Given the description of an element on the screen output the (x, y) to click on. 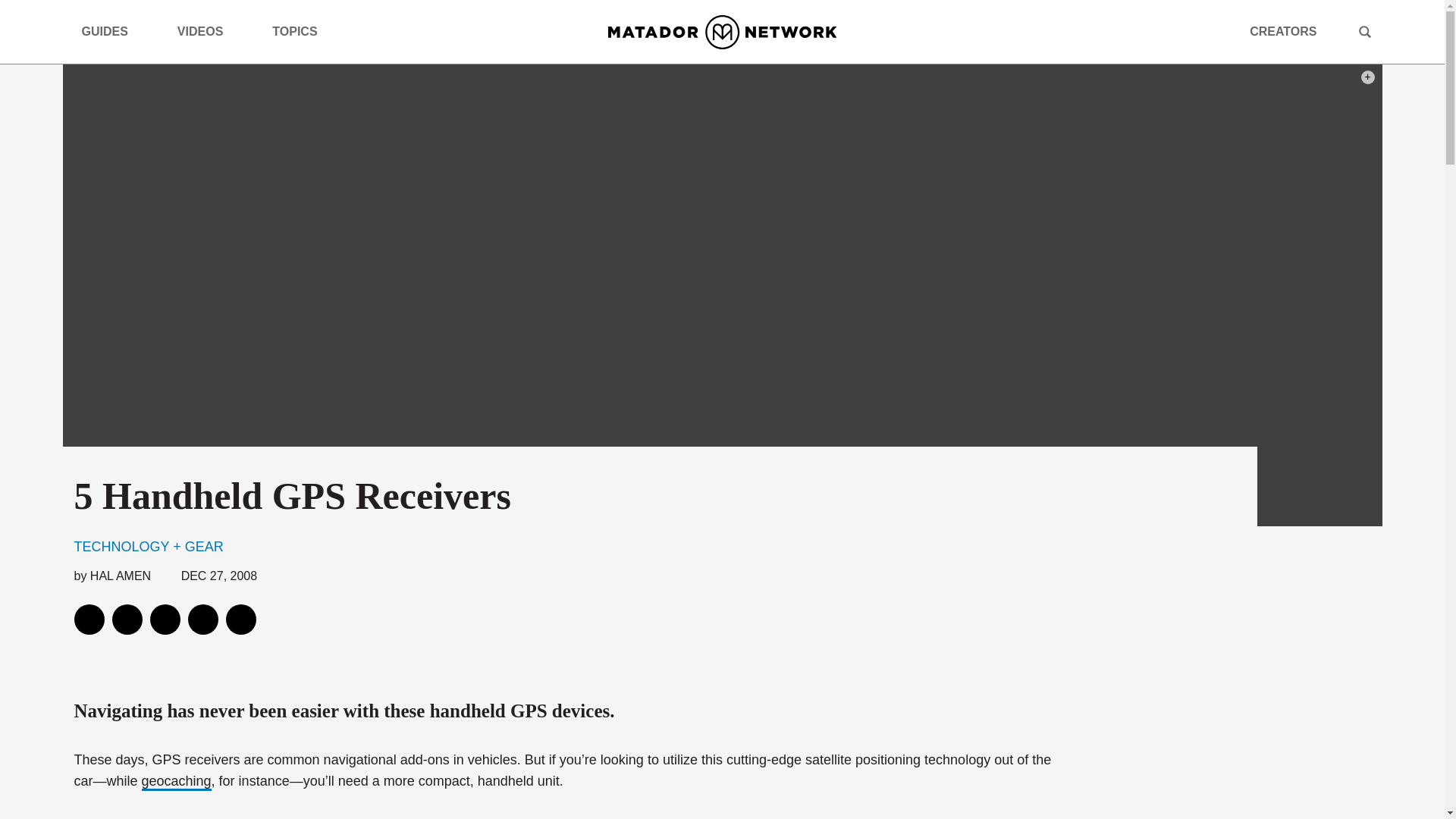
TOPICS (300, 31)
CREATORS (1282, 31)
VIDEOS (205, 31)
GUIDES (110, 31)
